Given the description of an element on the screen output the (x, y) to click on. 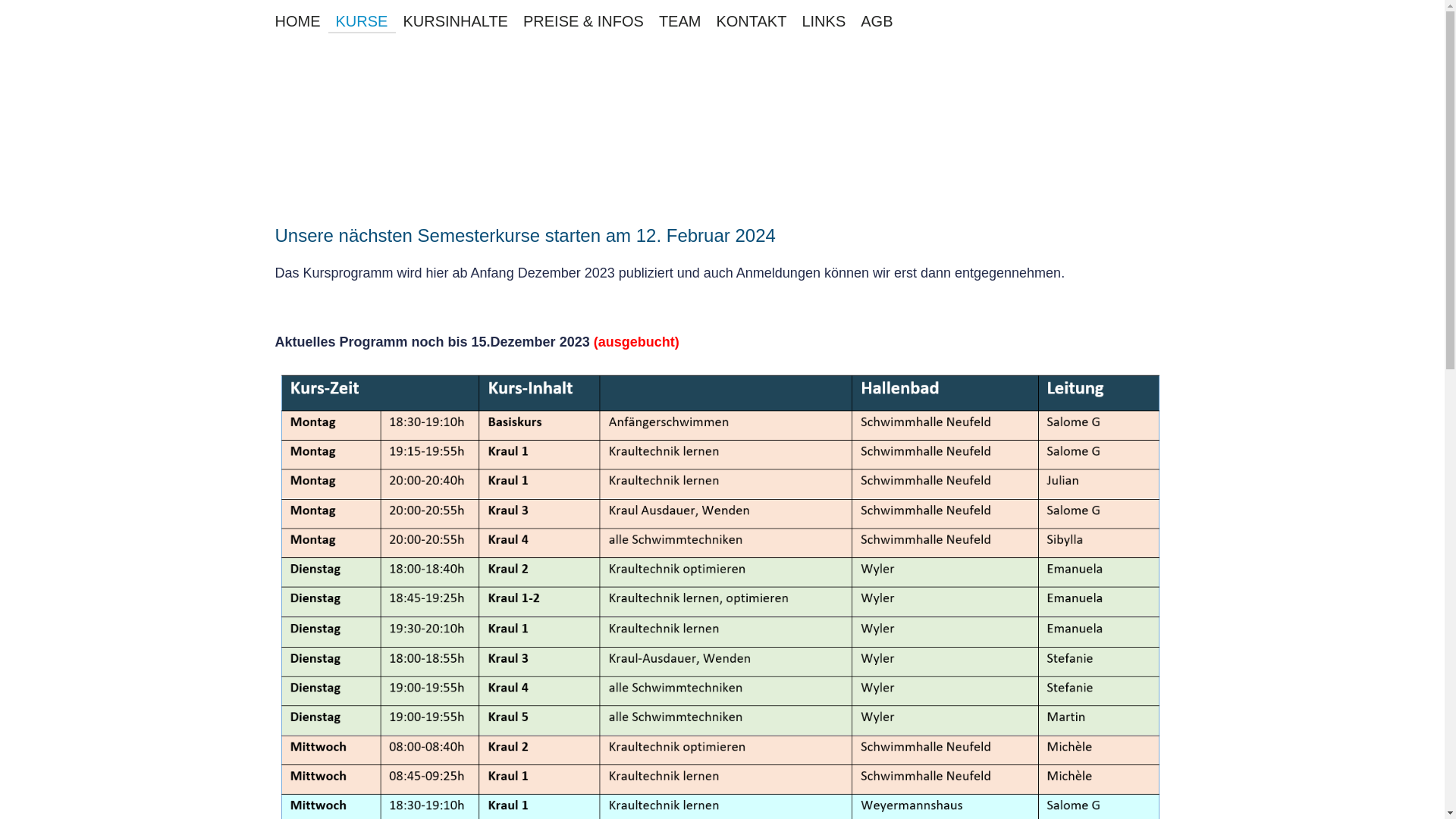
AGB Element type: text (876, 21)
KONTAKT Element type: text (750, 21)
KURSE Element type: text (361, 21)
  Element type: text (721, 123)
KURSINHALTE Element type: text (455, 21)
PREISE & INFOS Element type: text (583, 21)
HOME Element type: text (296, 21)
LINKS Element type: text (823, 21)
TEAM Element type: text (680, 21)
